Given the description of an element on the screen output the (x, y) to click on. 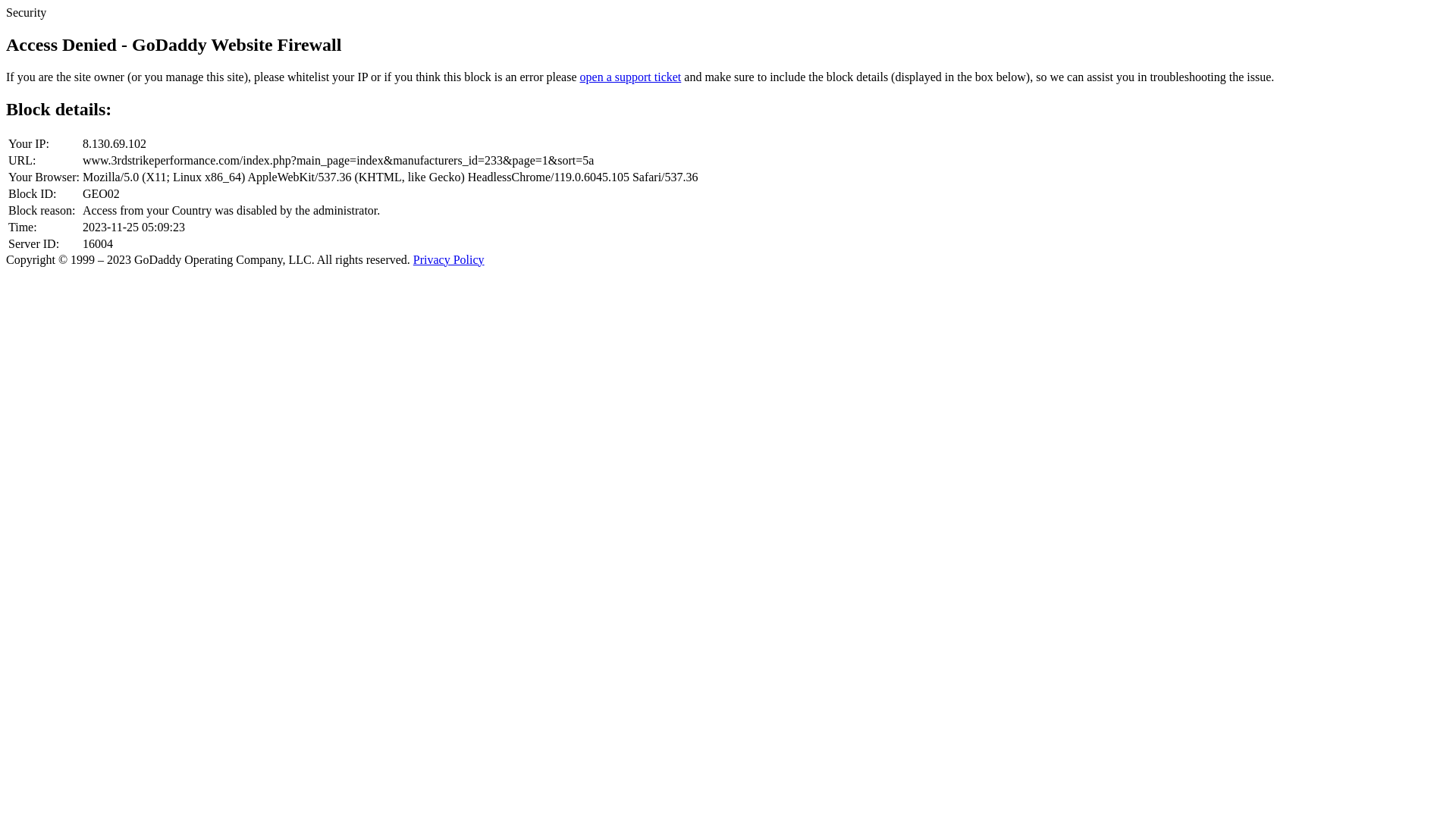
Privacy Policy Element type: text (448, 259)
open a support ticket Element type: text (630, 76)
